Given the description of an element on the screen output the (x, y) to click on. 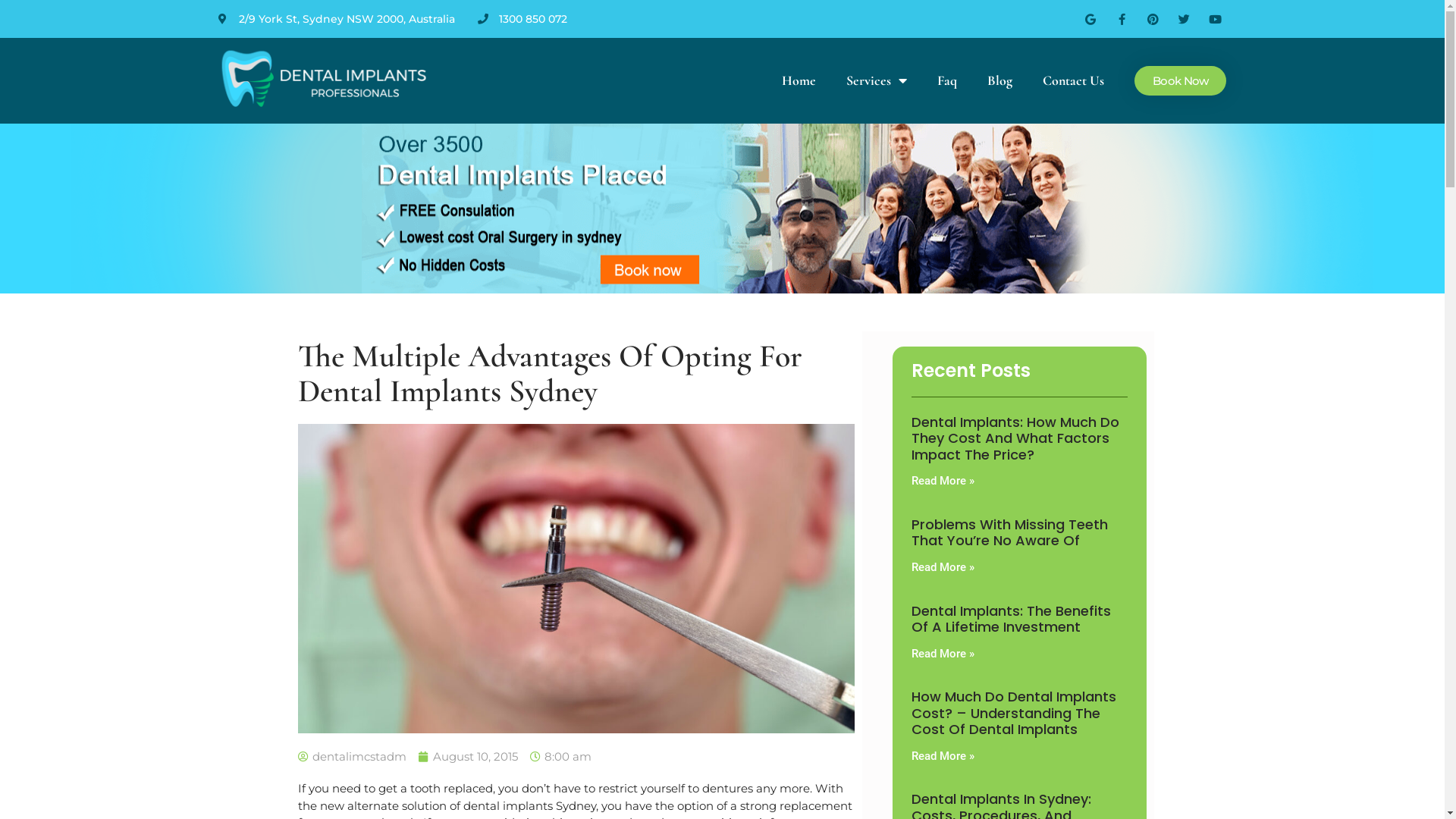
Book Now Element type: text (1180, 80)
Services Element type: text (876, 80)
Dental Implants: The Benefits Of A Lifetime Investment Element type: text (1010, 618)
Faq Element type: text (947, 80)
Home Element type: text (798, 80)
Contact Us Element type: text (1073, 80)
dentalimcstadm Element type: text (351, 756)
August 10, 2015 Element type: text (467, 756)
1300 850 072 Element type: text (532, 18)
Blog Element type: text (999, 80)
